Given the description of an element on the screen output the (x, y) to click on. 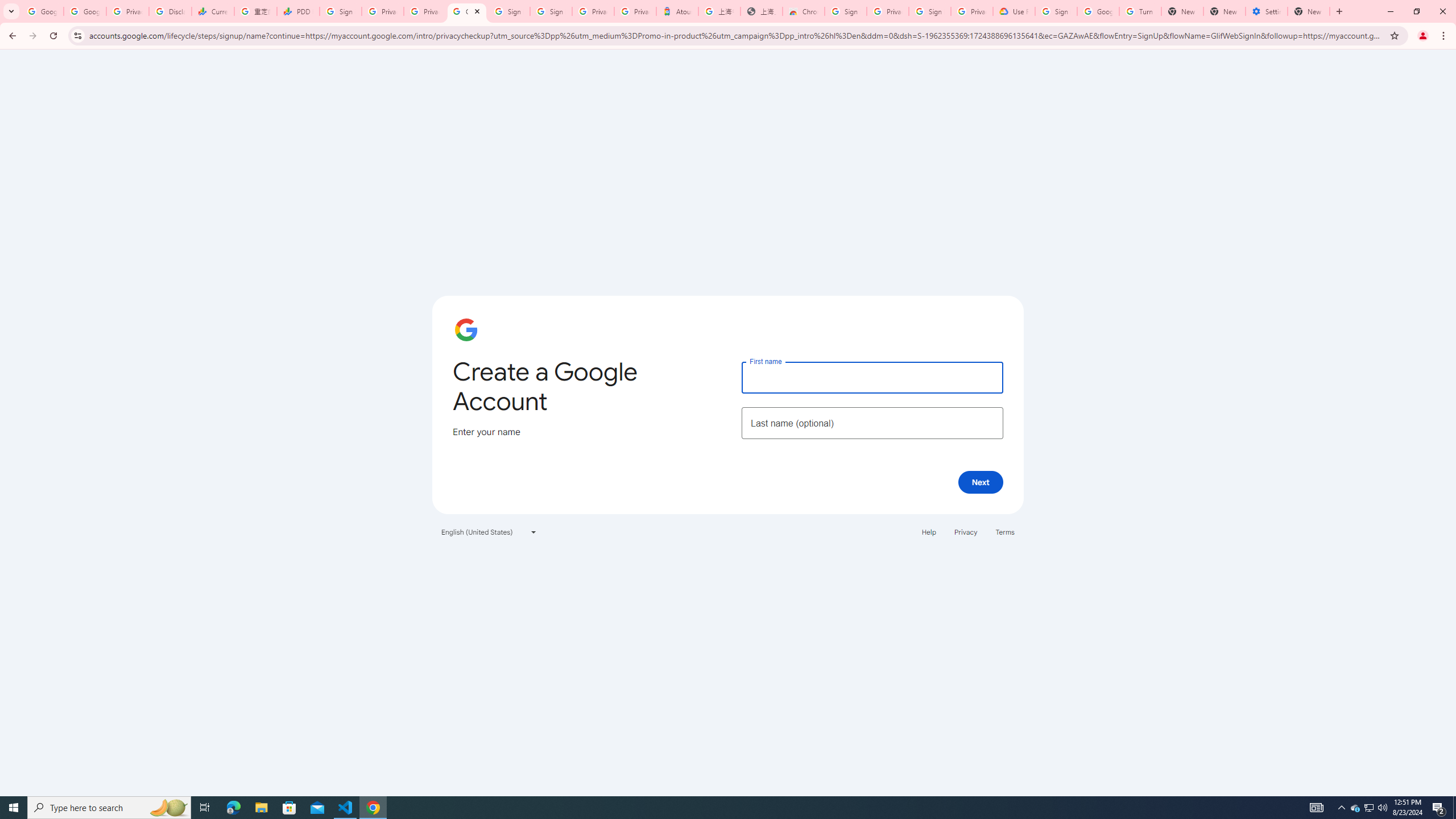
Currencies - Google Finance (212, 11)
Terms (1005, 531)
Minimize (1390, 11)
Search tabs (10, 11)
Settings - System (1266, 11)
Privacy (965, 531)
Forward (32, 35)
Sign in - Google Accounts (509, 11)
Chrome (1445, 35)
Chrome Web Store - Color themes by Chrome (803, 11)
You (1422, 35)
